Given the description of an element on the screen output the (x, y) to click on. 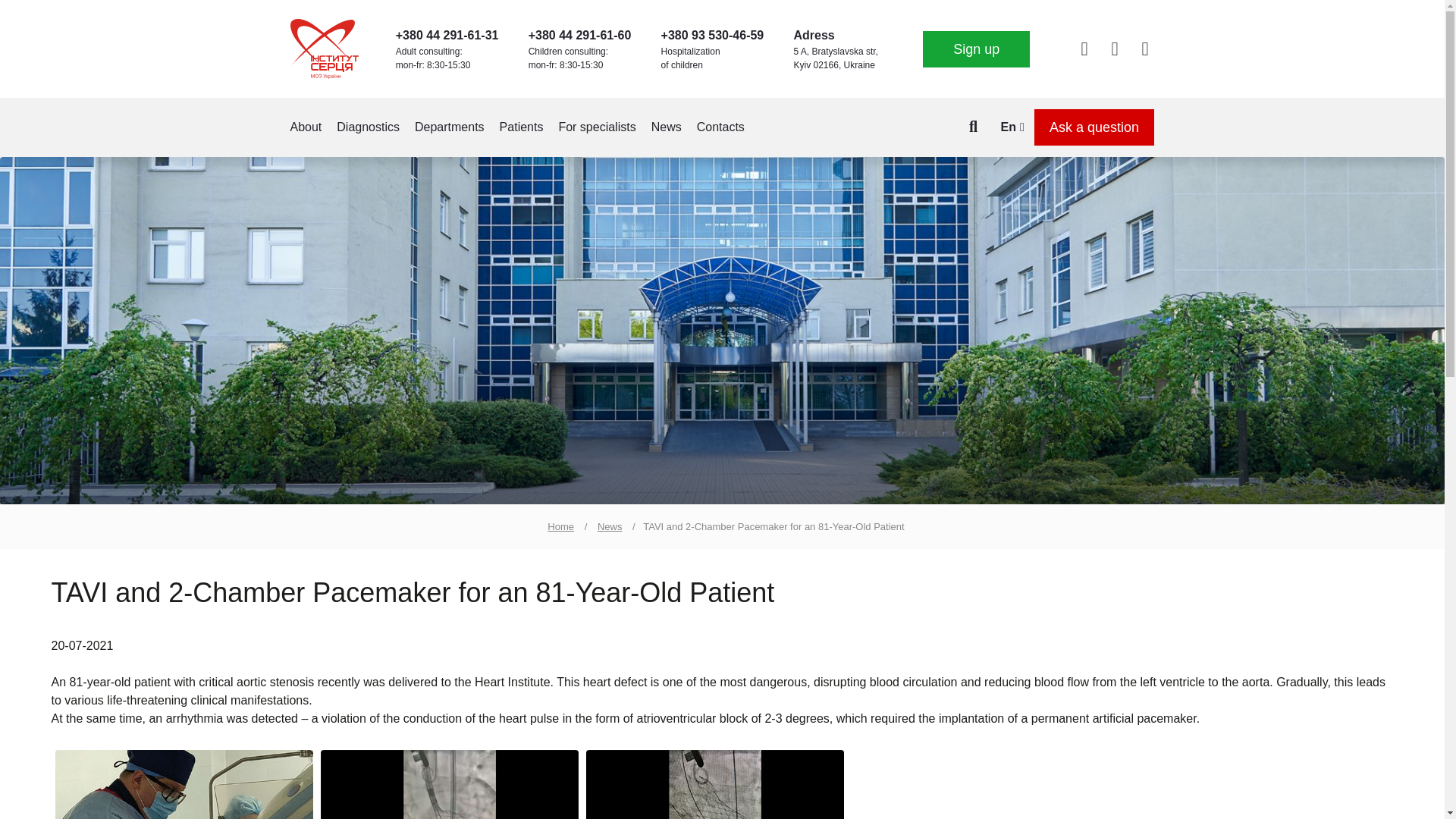
Diagnostics (367, 127)
Adress (813, 34)
Patients (521, 127)
Departments (449, 127)
Sign up (976, 49)
